Given the description of an element on the screen output the (x, y) to click on. 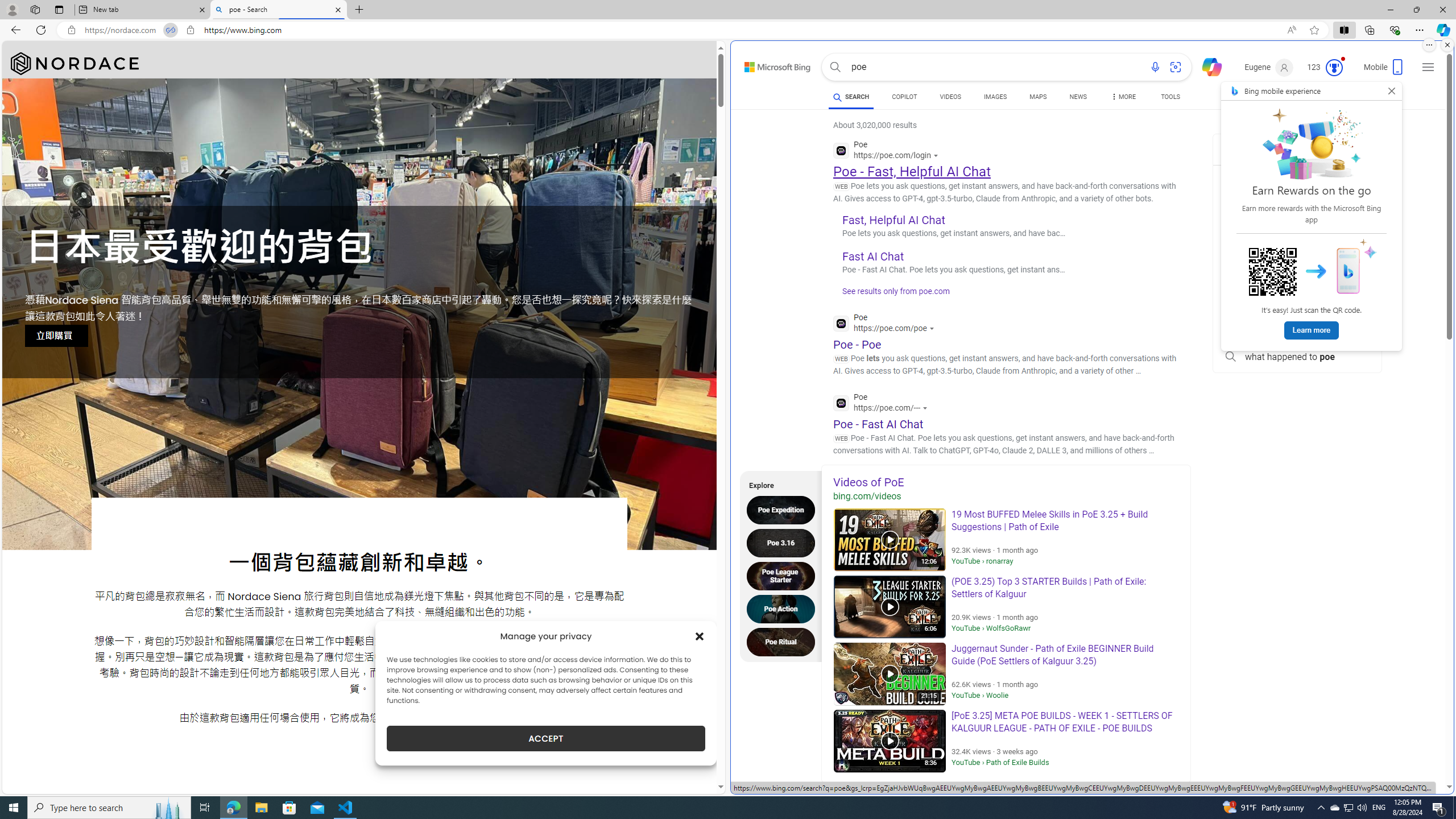
VIDEOS (950, 98)
Videos of PoE (1005, 481)
COPILOT (903, 96)
VIDEOS (950, 96)
Chat (1207, 65)
poe ++ standard (1297, 254)
